Given the description of an element on the screen output the (x, y) to click on. 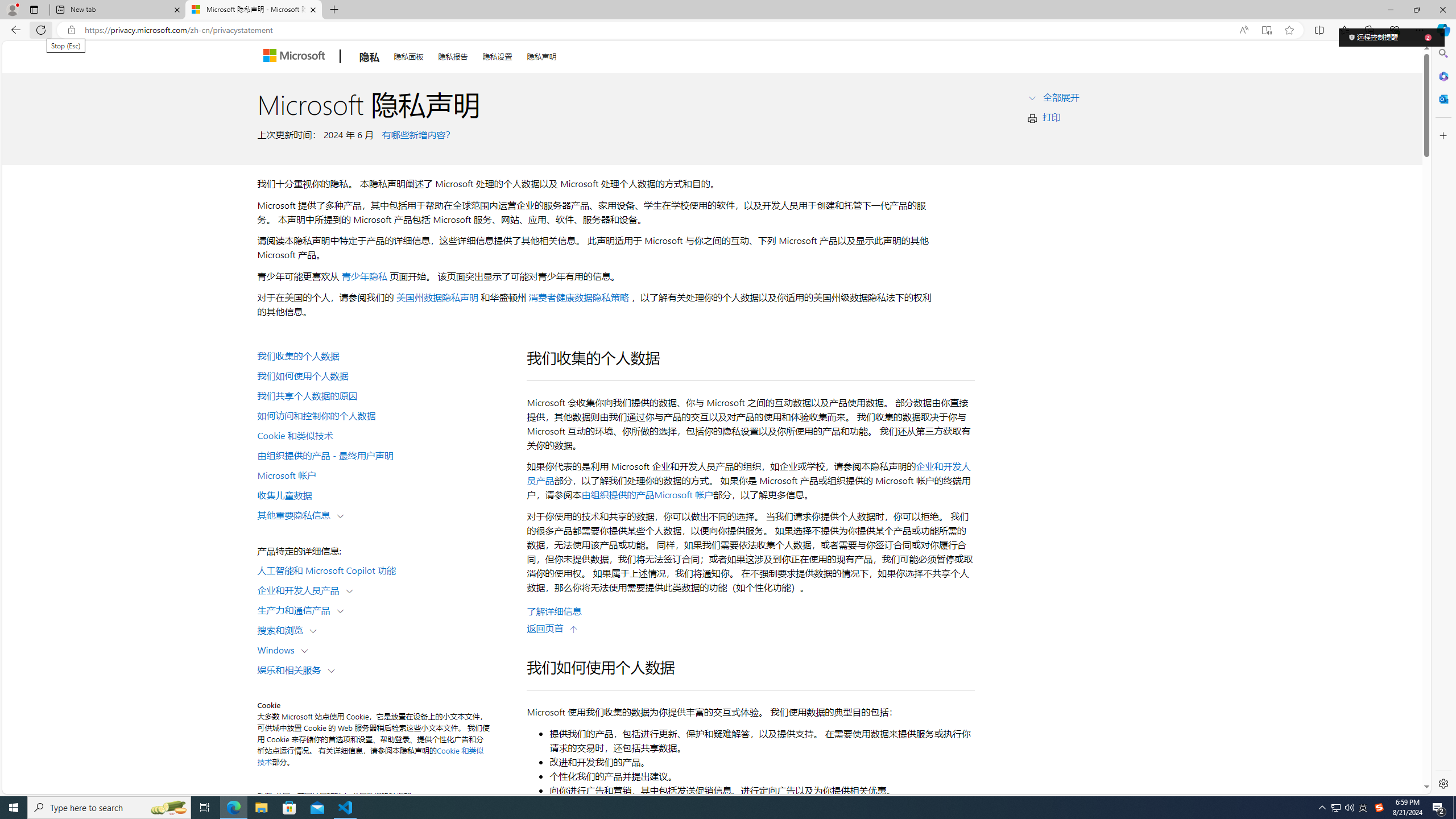
Outlook (1442, 98)
Address and search bar (658, 29)
Search (1442, 53)
Windows (278, 649)
New tab (117, 9)
